Given the description of an element on the screen output the (x, y) to click on. 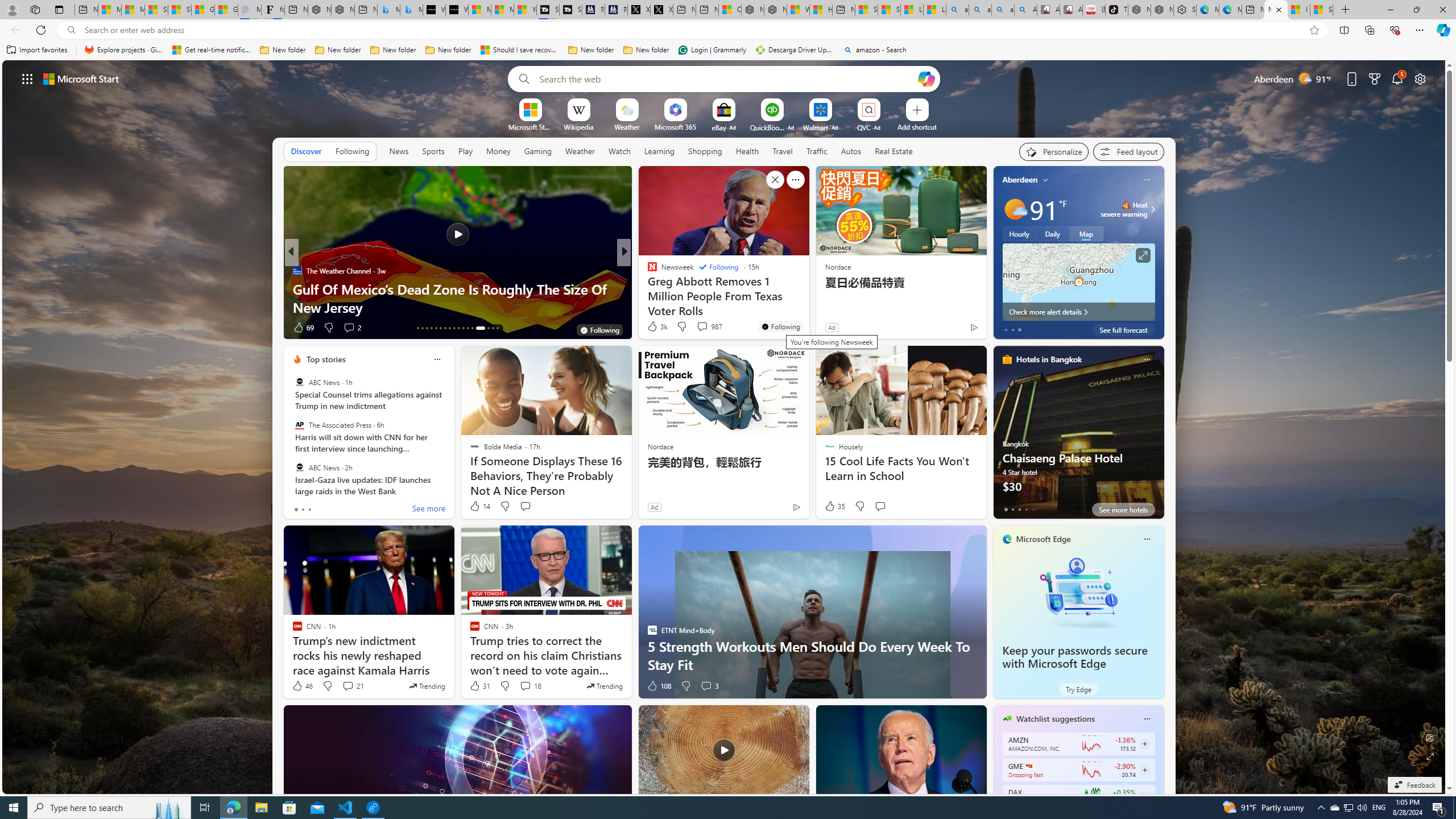
Map (1085, 233)
See more (795, 179)
See more (428, 509)
Real Estate (893, 151)
Class: control (27, 78)
Open Copilot (925, 78)
Microsoft Start Sports (529, 126)
Try Edge (1078, 689)
News (398, 151)
TikTok (1116, 9)
The Associated Press (299, 424)
